Given the description of an element on the screen output the (x, y) to click on. 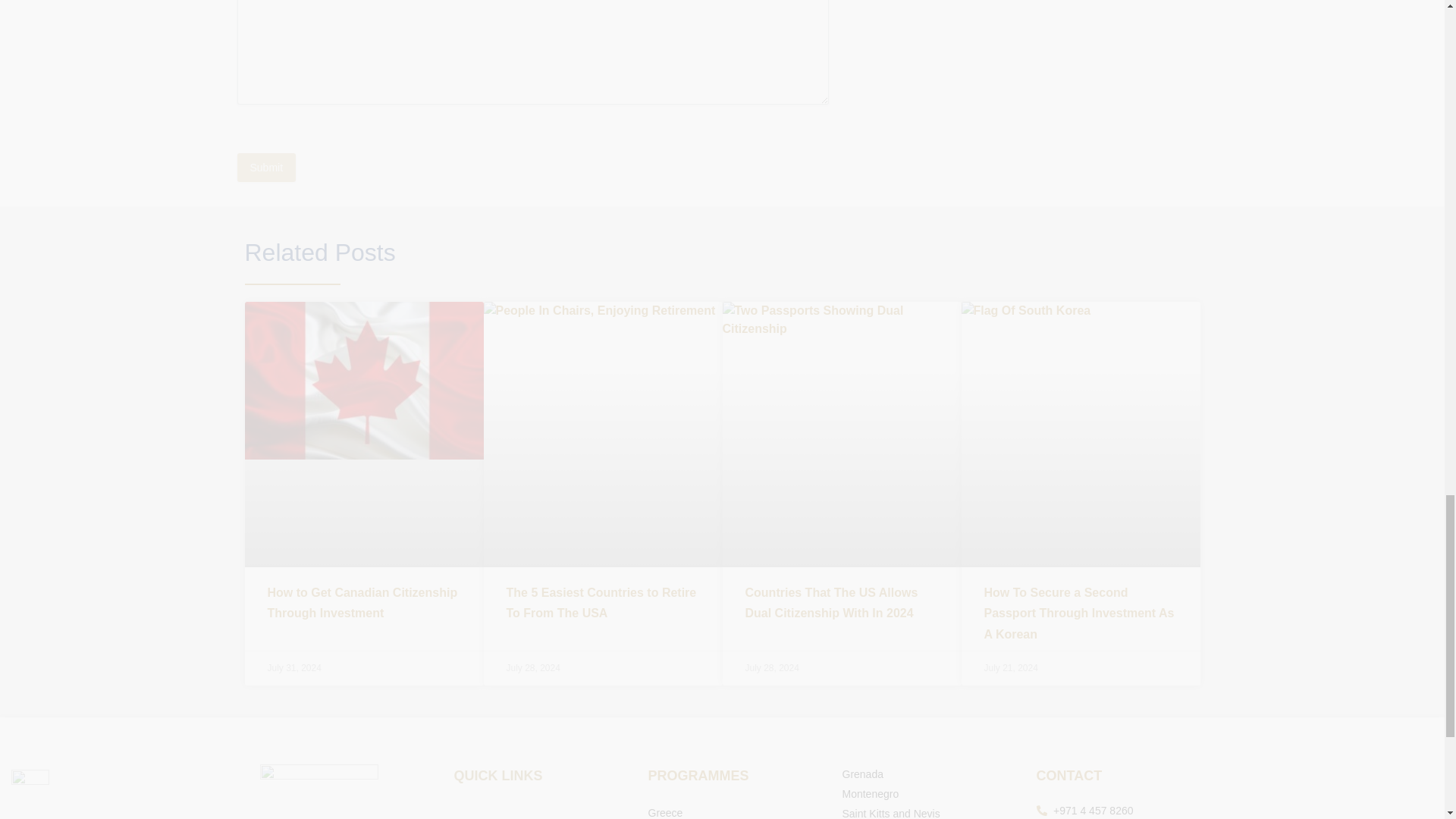
Submit (265, 167)
